Given the description of an element on the screen output the (x, y) to click on. 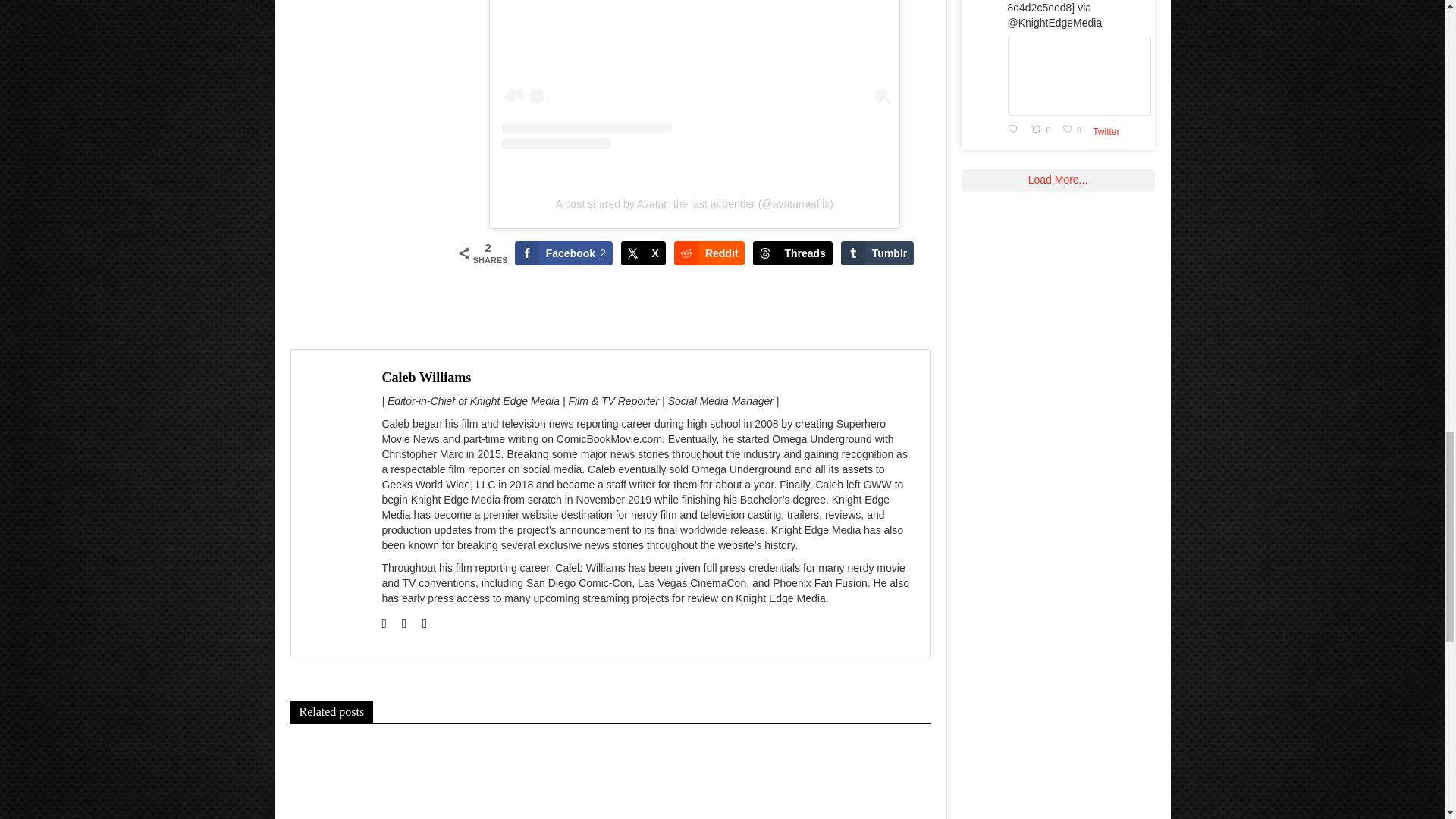
Posts by Caleb Williams (426, 377)
Share on Tumblr (877, 252)
Share on Reddit (709, 252)
Share on Threads (791, 252)
Share on X (643, 252)
Share on Facebook (563, 252)
